Given the description of an element on the screen output the (x, y) to click on. 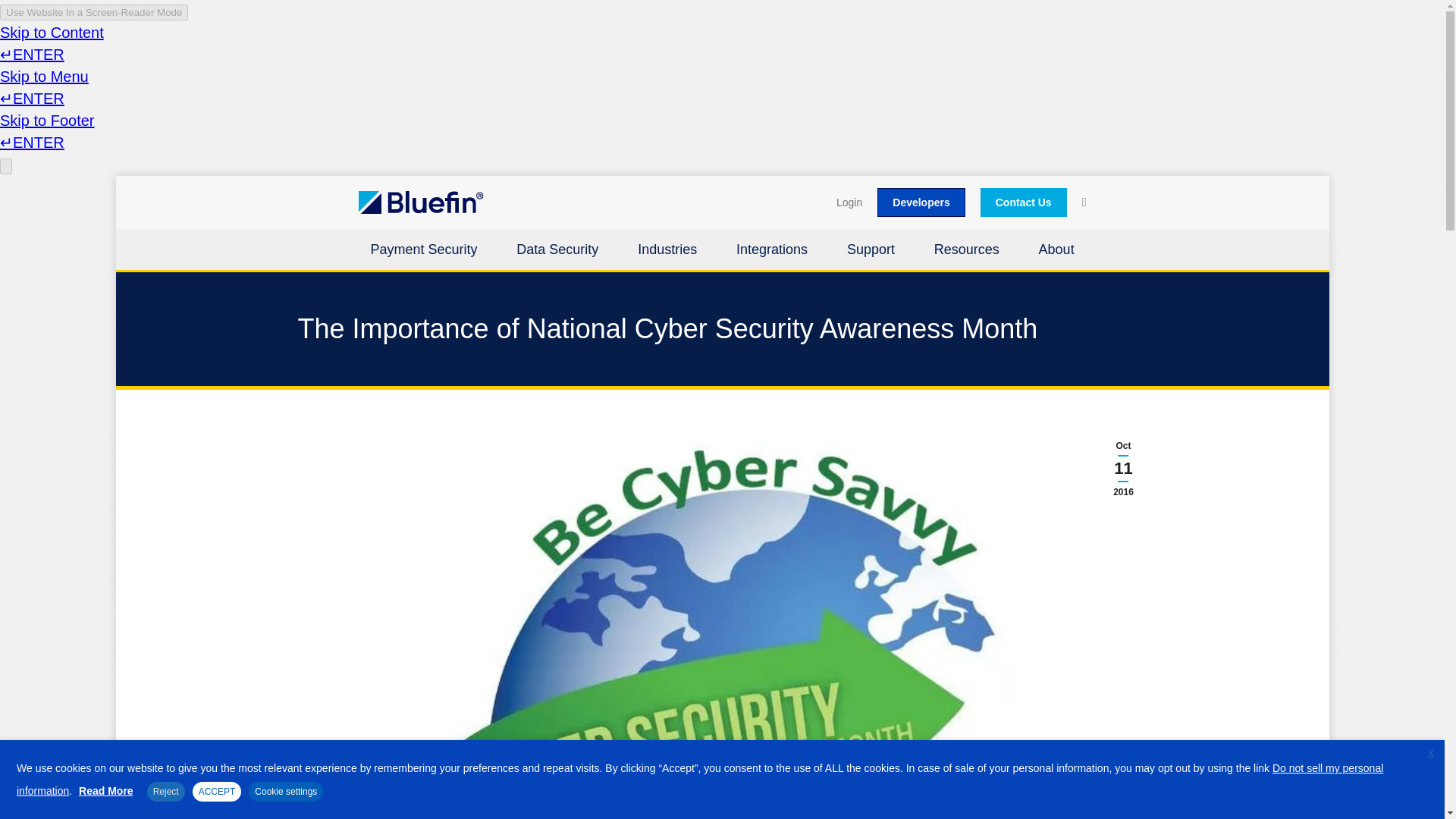
Go! (27, 20)
Login (848, 202)
Contact Us (1023, 202)
Resources (966, 251)
Data Security (556, 251)
Developers (920, 202)
Industries (667, 251)
Login: Bluefin Products and Services (848, 202)
Payment Security (423, 251)
Support (870, 251)
Integrations (771, 251)
